Given the description of an element on the screen output the (x, y) to click on. 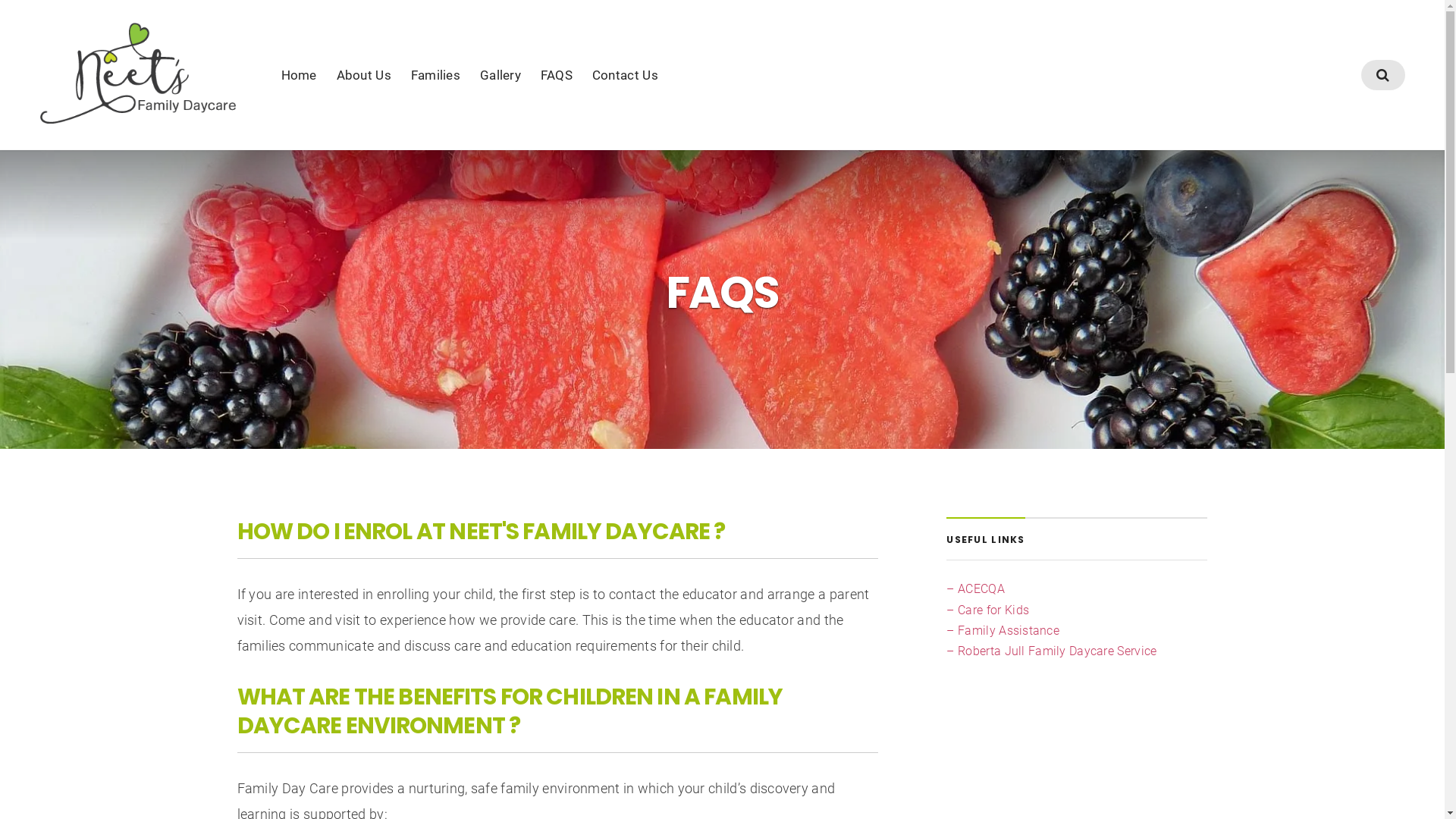
Home Element type: text (298, 74)
Search Element type: text (721, 431)
Families Element type: text (435, 74)
Gallery Element type: text (500, 74)
About Us Element type: text (363, 74)
Contact Us Element type: text (625, 74)
FAQS Element type: text (556, 74)
